Given the description of an element on the screen output the (x, y) to click on. 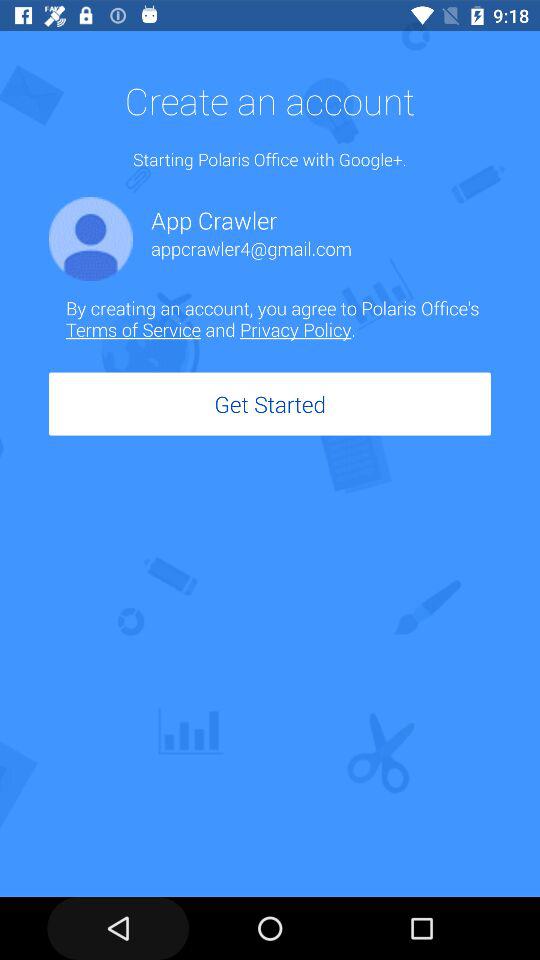
click icon above get started (278, 318)
